Given the description of an element on the screen output the (x, y) to click on. 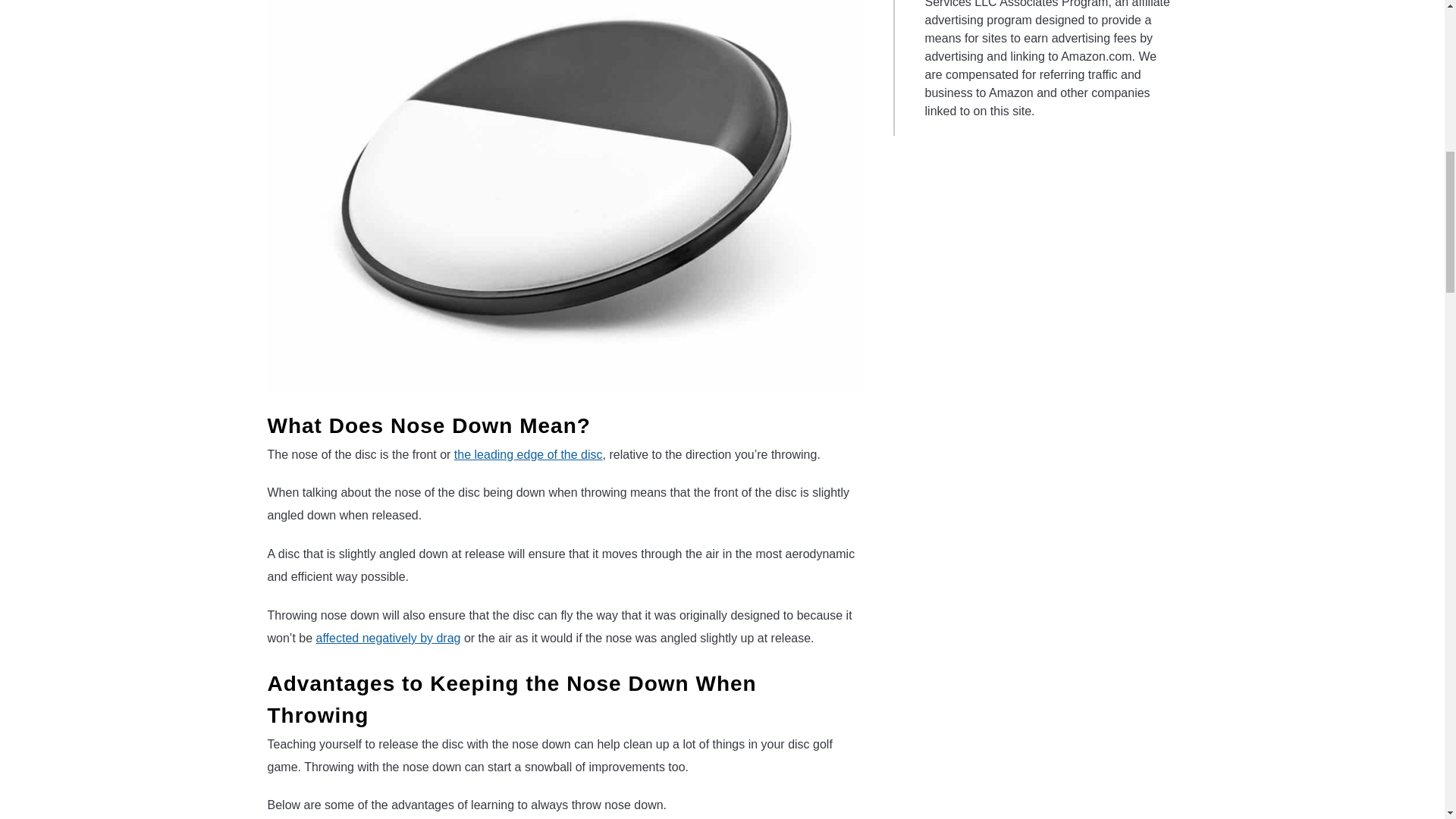
the leading edge of the disc (528, 454)
affected negatively by drag (388, 637)
